Given the description of an element on the screen output the (x, y) to click on. 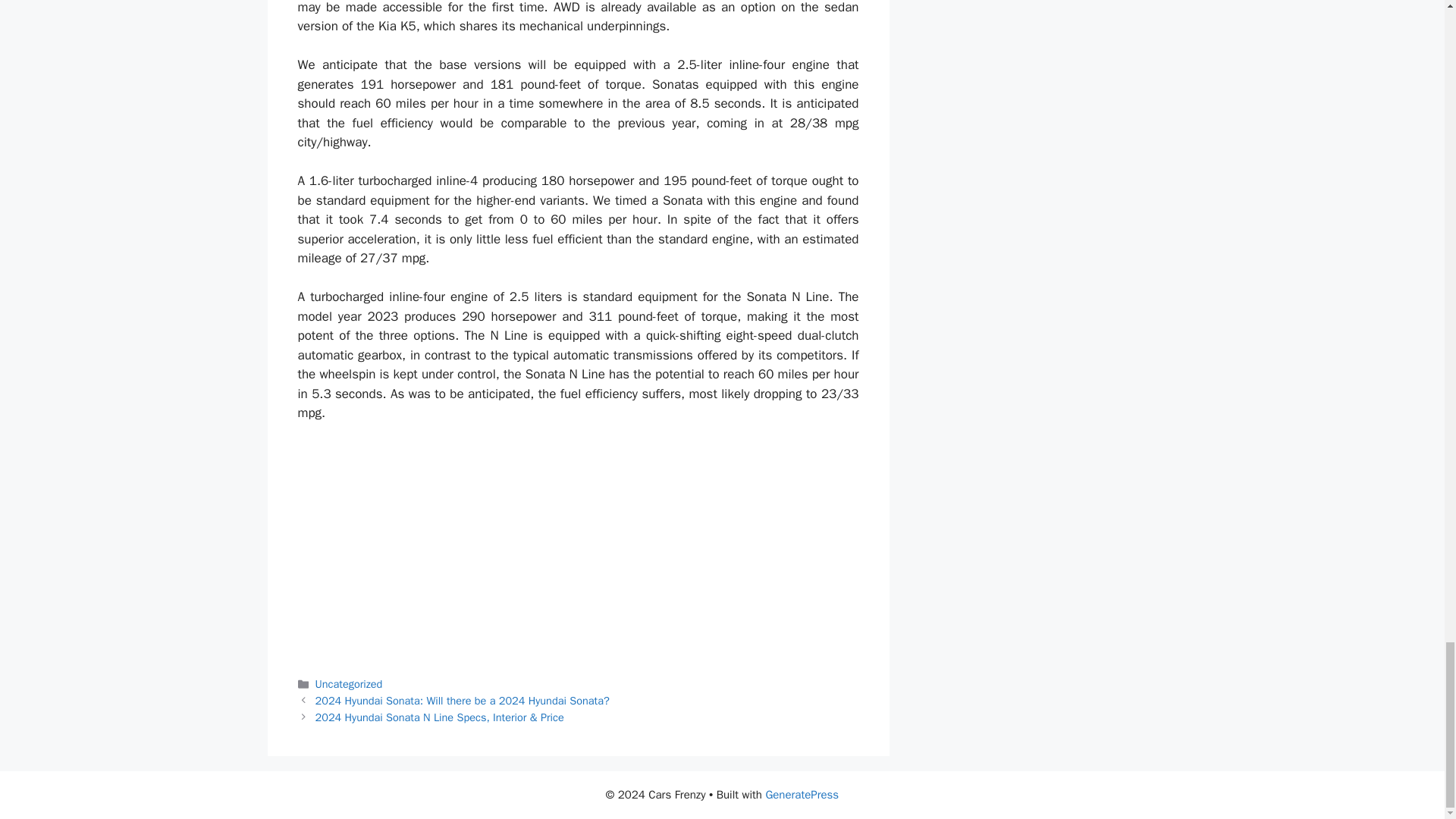
Uncategorized (348, 684)
GeneratePress (801, 794)
2024 Hyundai Sonata: Will there be a 2024 Hyundai Sonata? (462, 700)
